Given the description of an element on the screen output the (x, y) to click on. 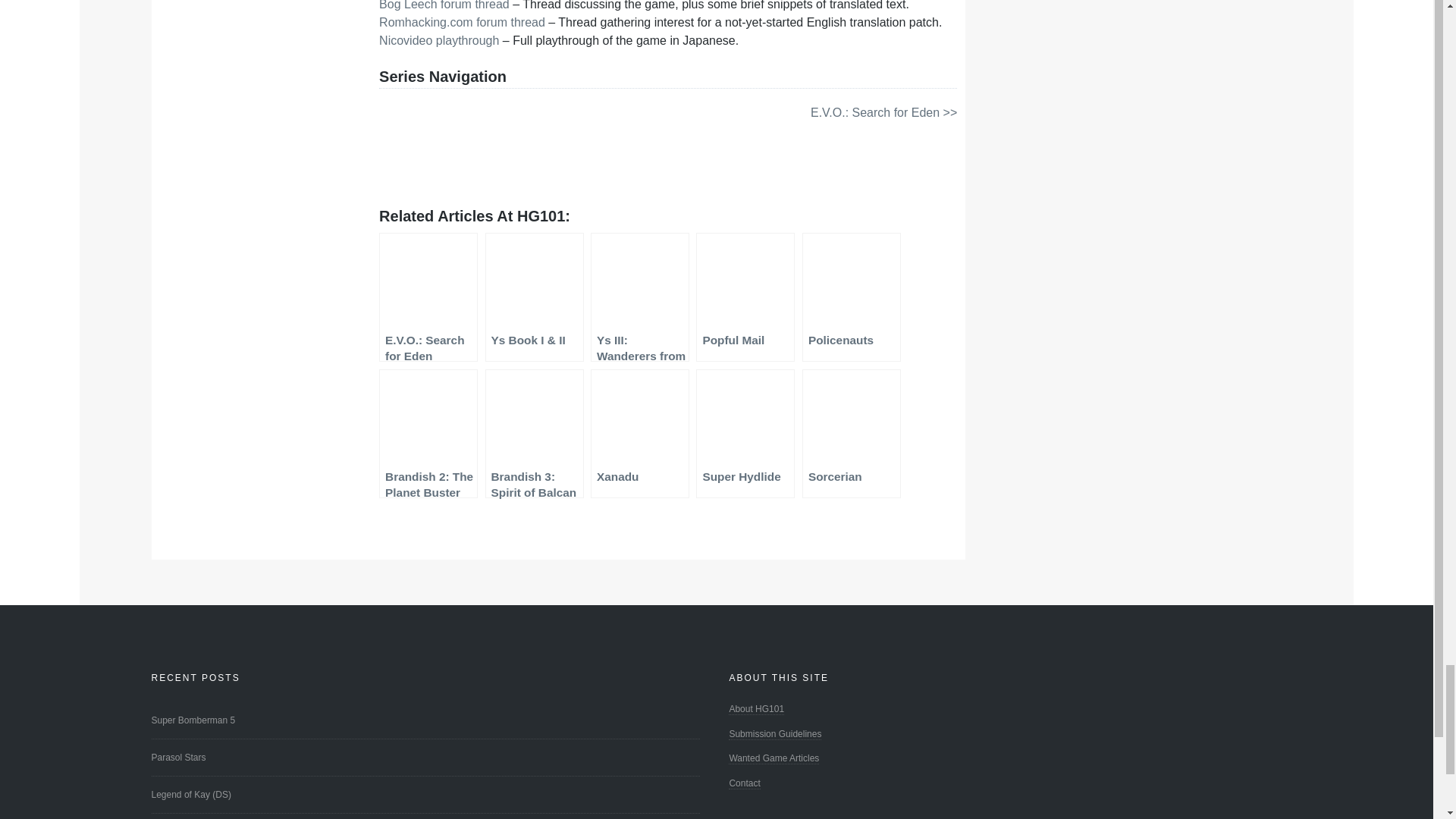
Nicovideo playthrough (438, 40)
Romhacking.com forum thread (461, 21)
Bog Leech forum thread (443, 5)
